Given the description of an element on the screen output the (x, y) to click on. 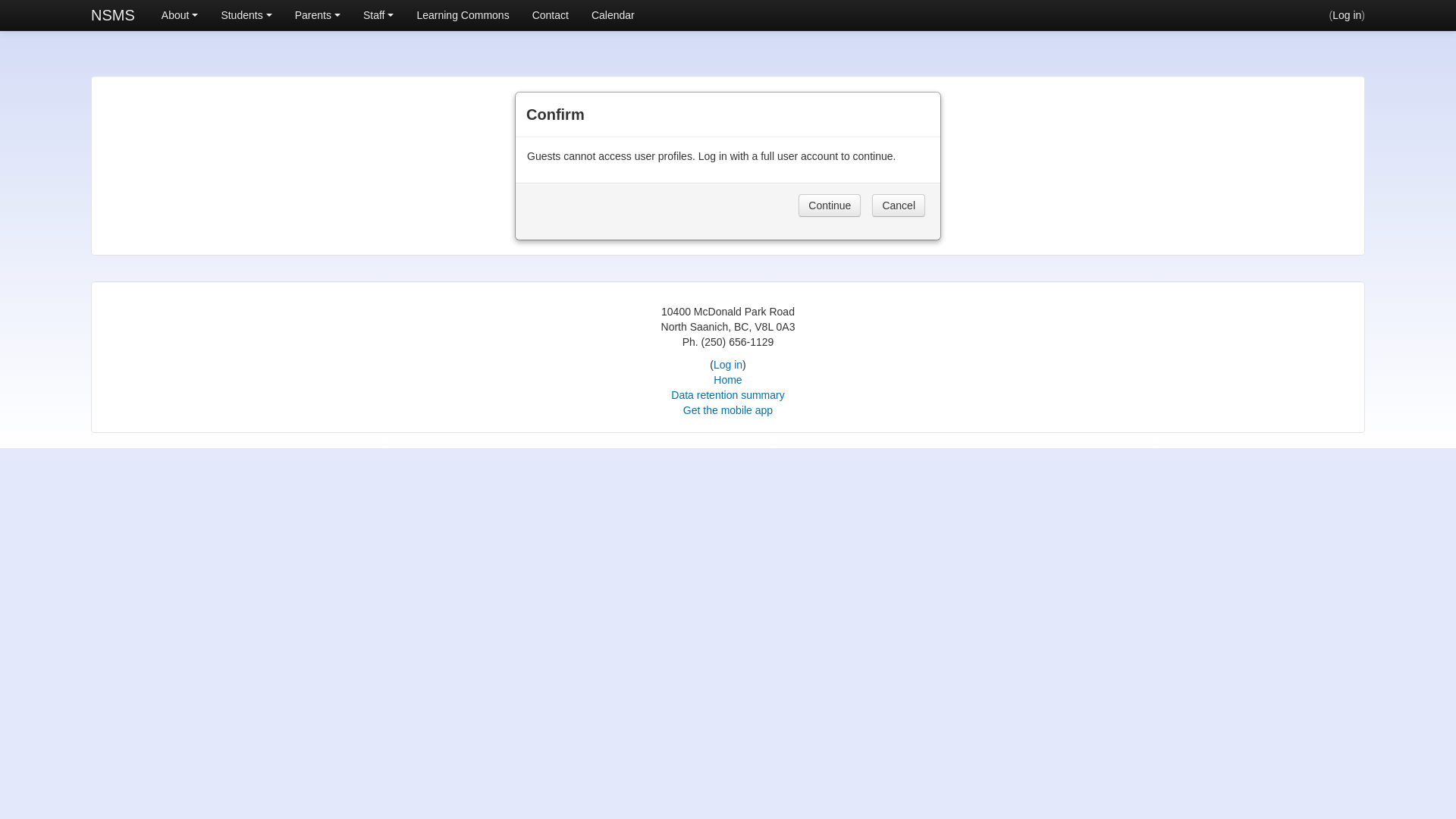
NSMS Element type: text (112, 15)
Parents Element type: text (317, 15)
Log in Element type: text (1346, 15)
Data retention summary Element type: text (727, 395)
Staff Element type: text (378, 15)
Continue Element type: text (829, 205)
Calendar Element type: text (613, 15)
Log in Element type: text (727, 364)
Home Element type: text (727, 379)
Cancel Element type: text (898, 205)
About Element type: text (180, 15)
Contact Element type: text (550, 15)
Learning Commons Element type: text (462, 15)
Get the mobile app Element type: text (727, 410)
Students Element type: text (245, 15)
